Given the description of an element on the screen output the (x, y) to click on. 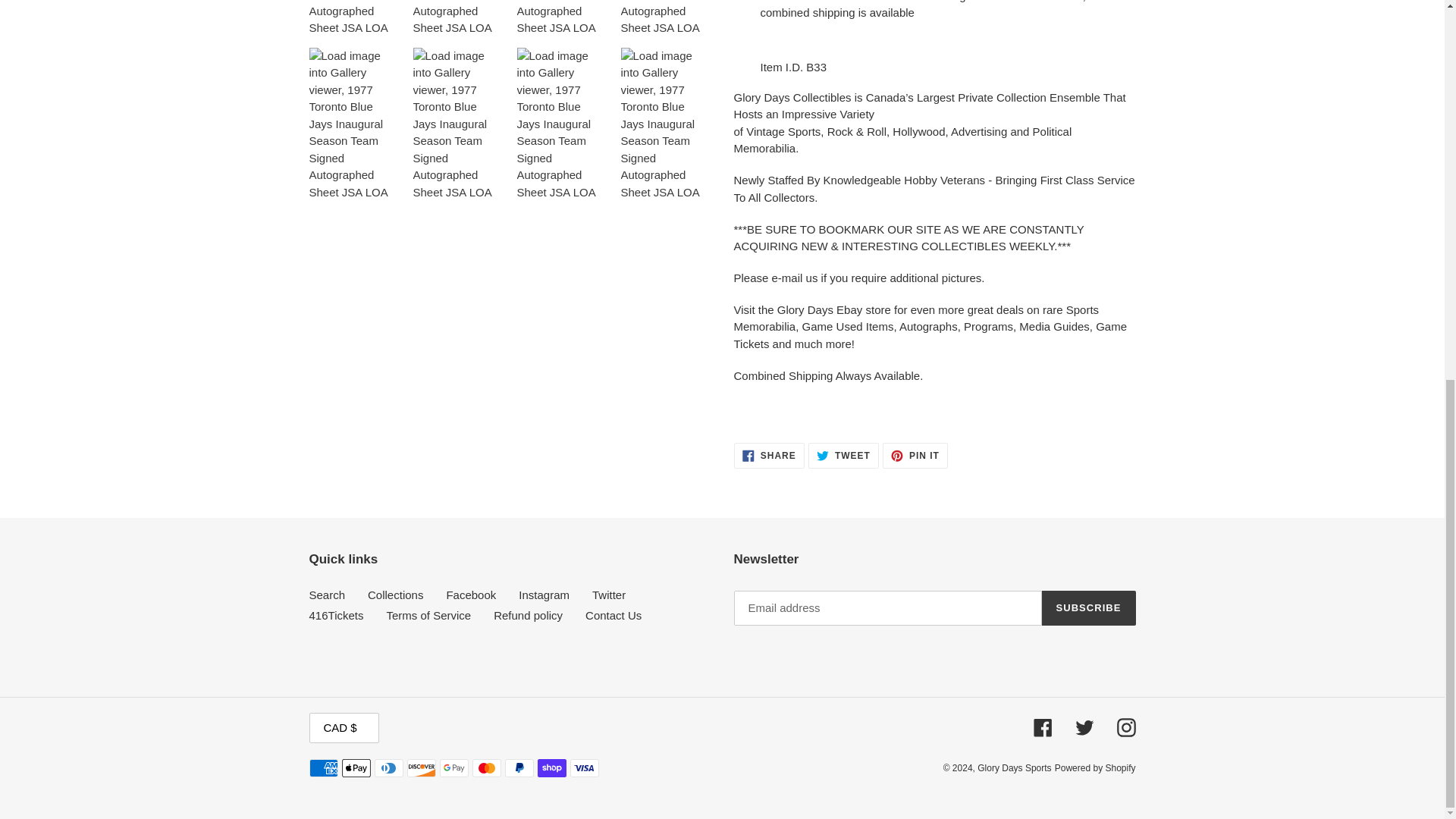
Search (914, 455)
Facebook (327, 594)
Collections (470, 594)
